Given the description of an element on the screen output the (x, y) to click on. 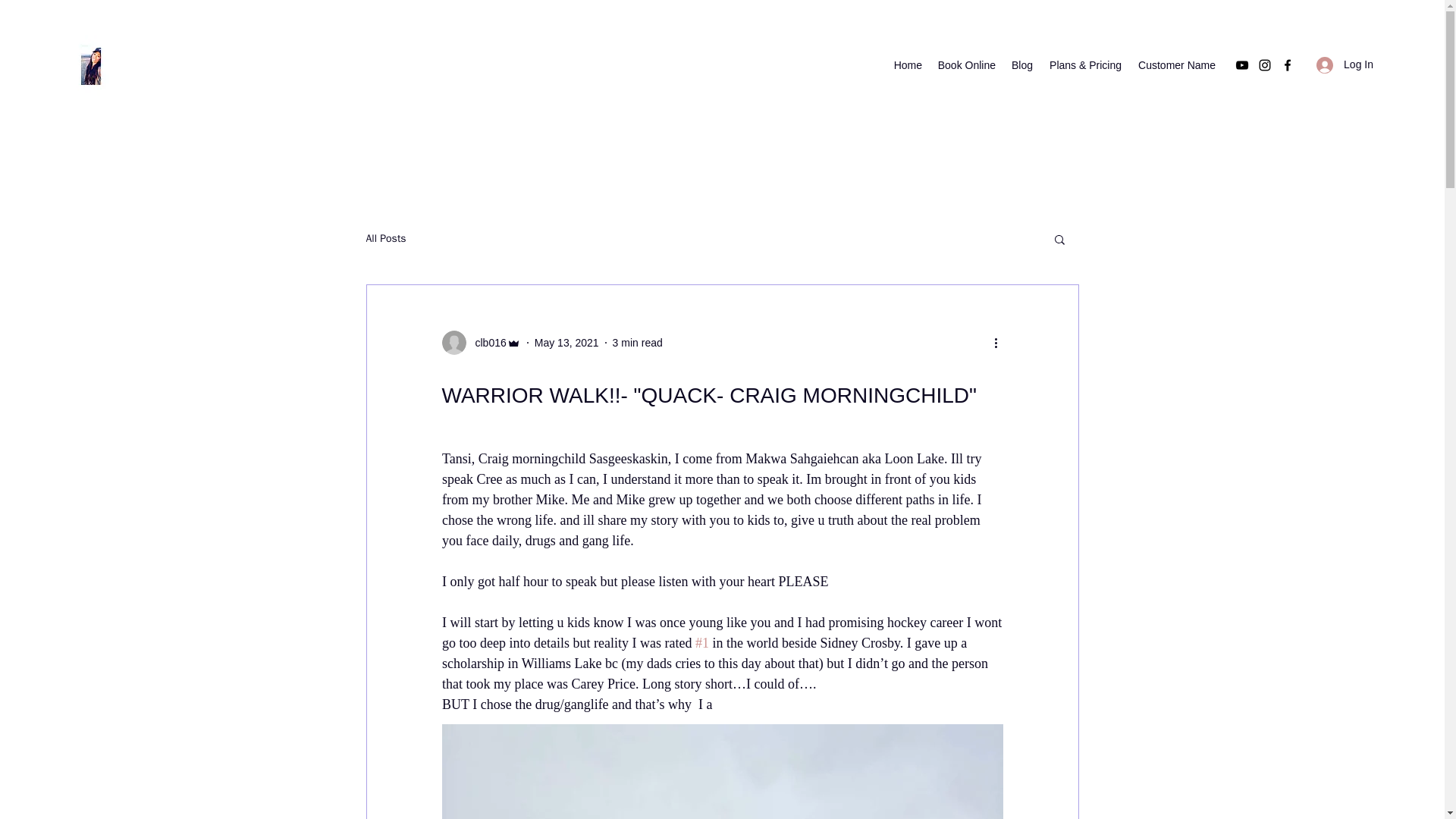
Home (907, 65)
May 13, 2021 (566, 342)
Book Online (966, 65)
Customer Name (1176, 65)
Blog (1022, 65)
3 min read (637, 342)
Log In (1345, 64)
All Posts (385, 238)
clb016 (485, 342)
clb016 (480, 342)
